Given the description of an element on the screen output the (x, y) to click on. 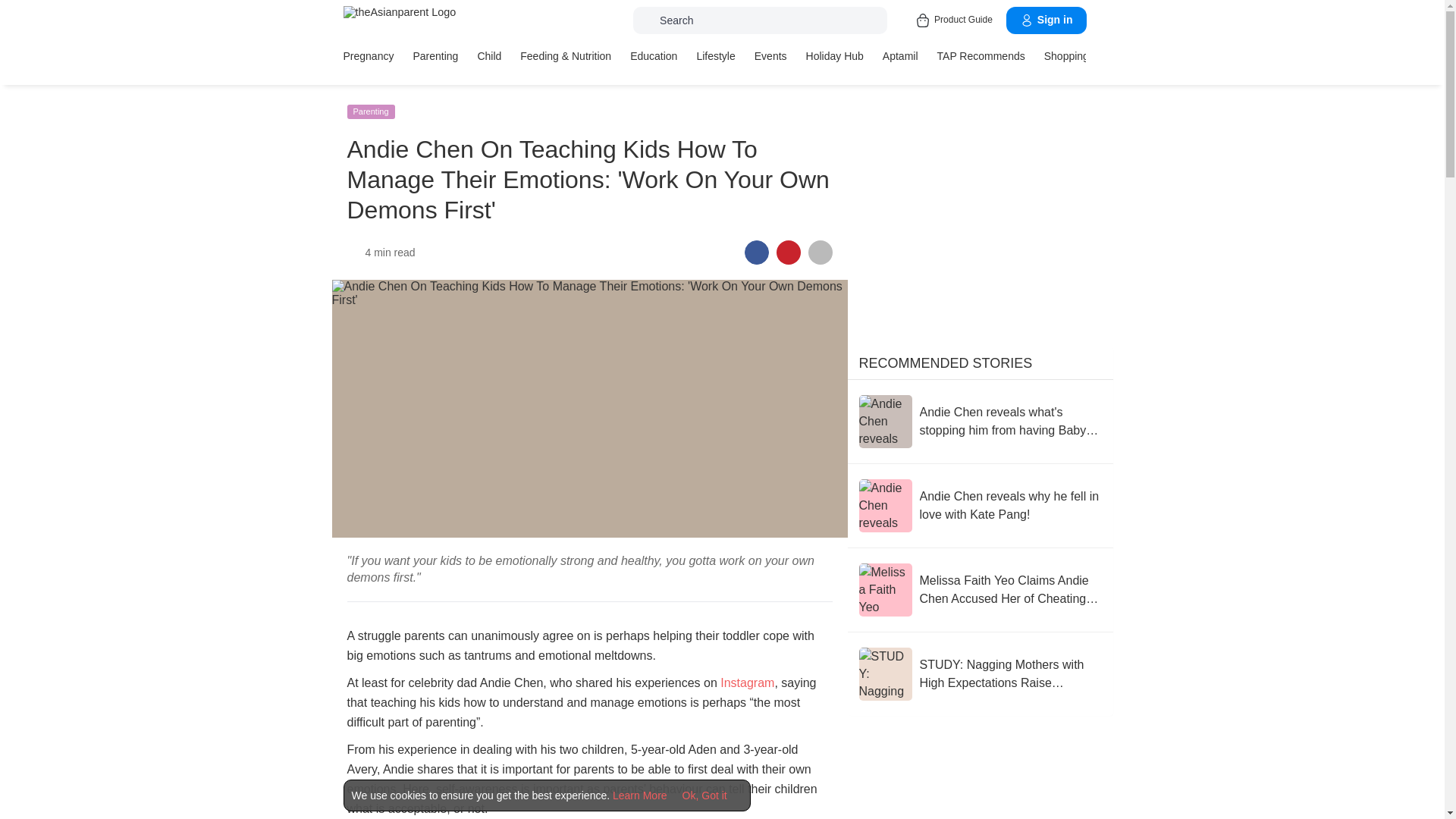
theAsianparent (398, 11)
Lifestyle (715, 56)
Child (488, 56)
logo (398, 19)
Pregnancy (367, 56)
Sign in (1046, 19)
Education (653, 56)
Child (488, 56)
Pregnancy (367, 56)
Parenting (435, 56)
